Given the description of an element on the screen output the (x, y) to click on. 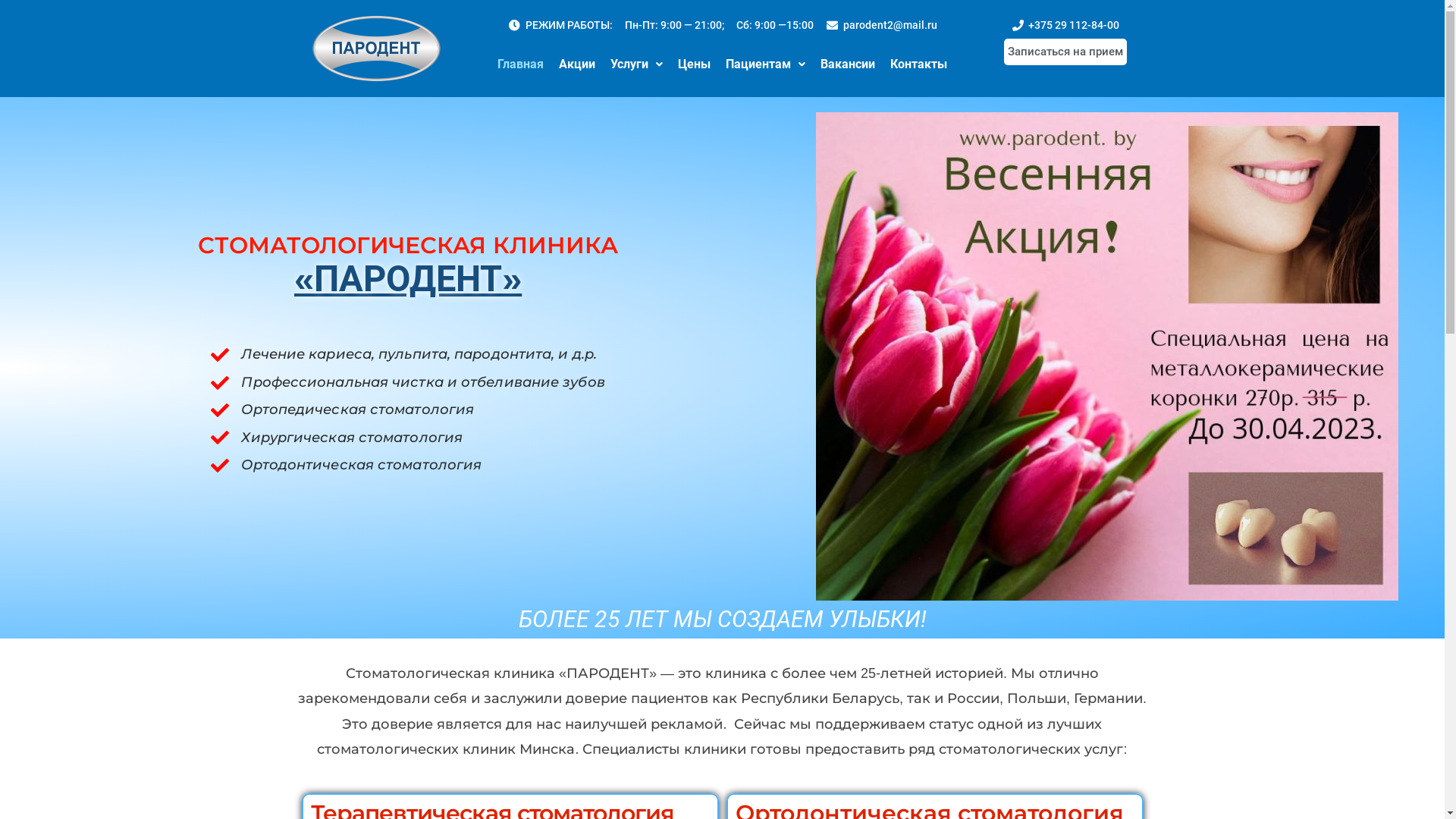
parodent2@mail.ru Element type: text (881, 24)
+375 29 112-84-00 Element type: text (1065, 24)
